Given the description of an element on the screen output the (x, y) to click on. 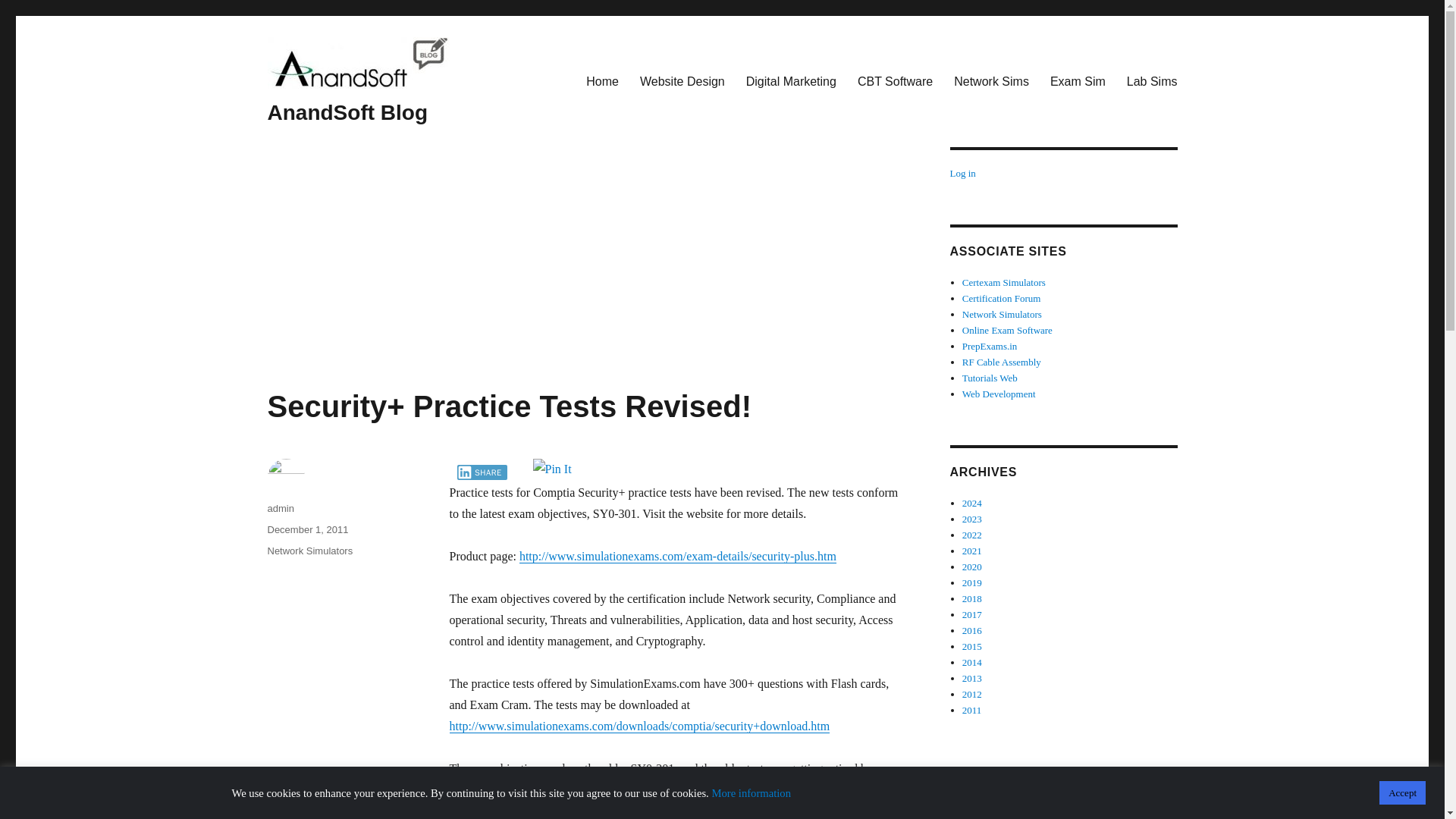
Web Development (998, 393)
Certexam Simulators (1003, 282)
Network Simulators (1002, 314)
RF Cable Assembly (1001, 361)
PrepExams.in (989, 346)
2022 (971, 534)
December 1, 2011 (306, 529)
Certification Forum (1001, 297)
Network Sims (991, 81)
SHARE (481, 472)
Network Simulators (309, 550)
Online Exam Software (1007, 329)
Computer based exam software with authoring tool. (1007, 329)
admin (280, 508)
